Given the description of an element on the screen output the (x, y) to click on. 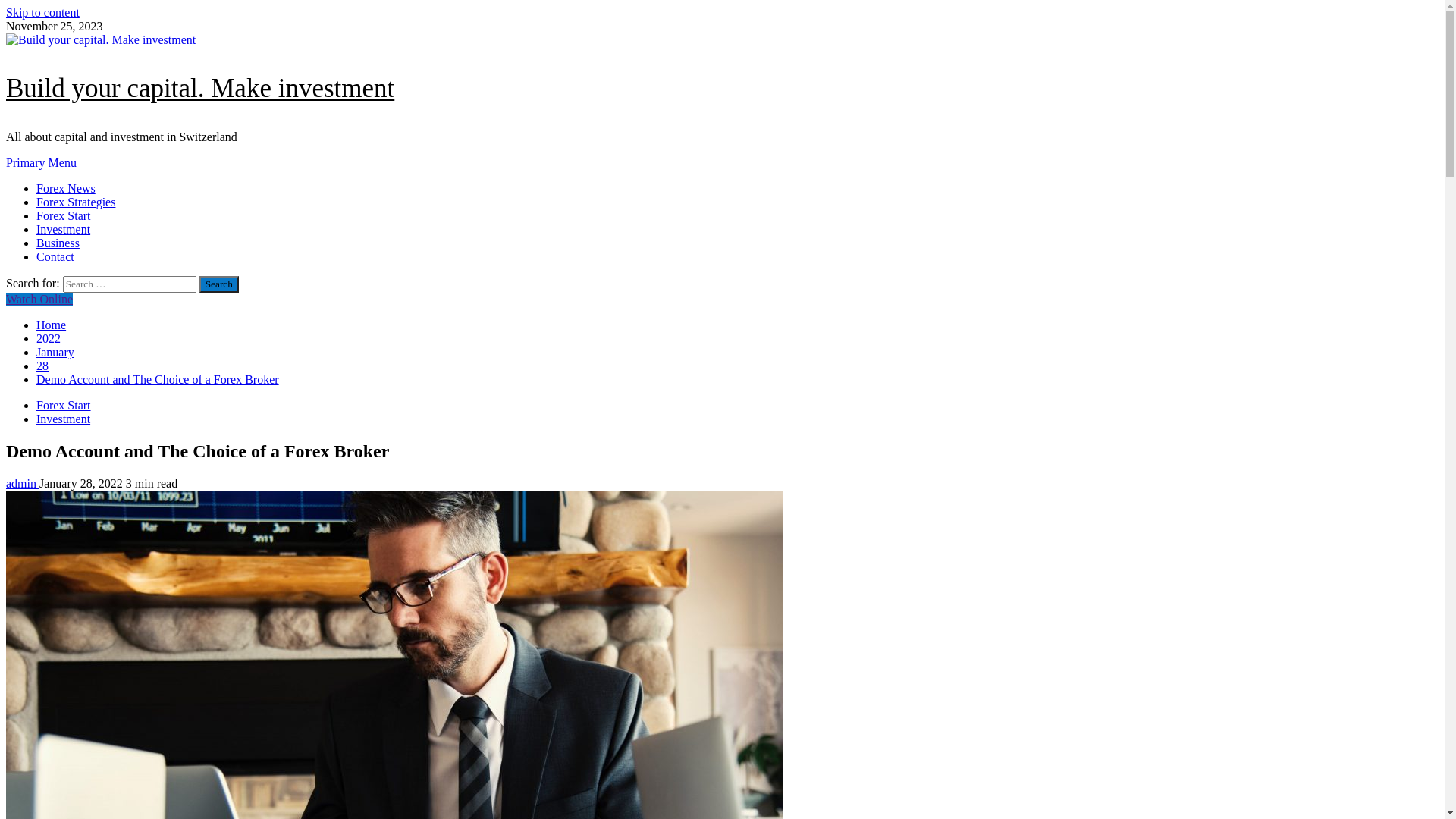
admin Element type: text (22, 482)
Forex Strategies Element type: text (75, 201)
28 Element type: text (42, 365)
January Element type: text (55, 351)
Home Element type: text (50, 324)
Primary Menu Element type: text (41, 162)
Forex Start Element type: text (63, 404)
Investment Element type: text (63, 418)
Contact Element type: text (55, 256)
2022 Element type: text (48, 338)
Business Element type: text (57, 242)
Demo Account and The Choice of a Forex Broker Element type: text (157, 379)
Forex Start Element type: text (63, 215)
Watch Online Element type: text (39, 298)
Forex News Element type: text (65, 188)
Build your capital. Make investment Element type: text (200, 88)
Skip to content Element type: text (42, 12)
Search Element type: text (218, 284)
Investment Element type: text (63, 228)
